Given the description of an element on the screen output the (x, y) to click on. 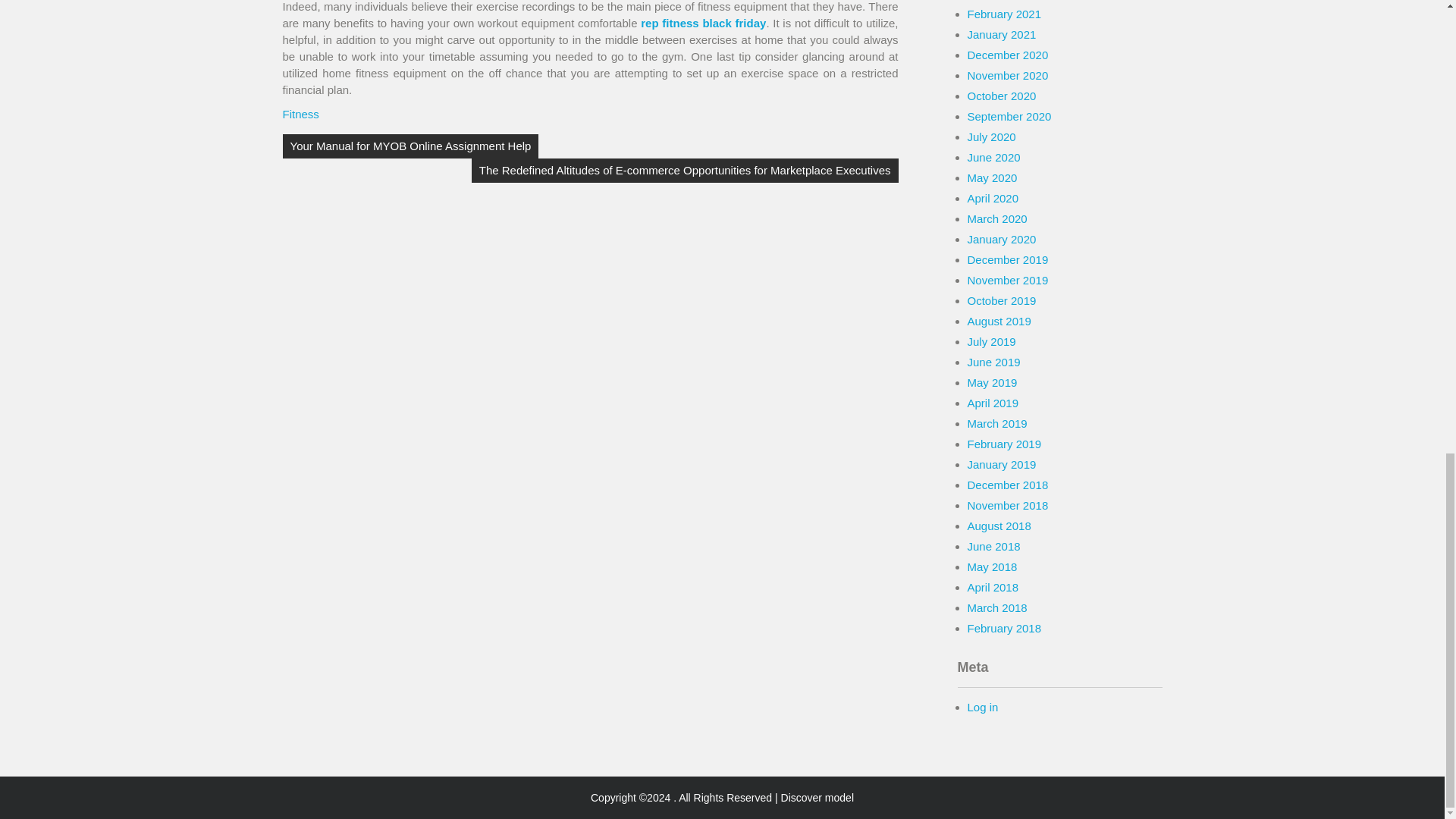
rep fitness black friday (702, 22)
Your Manual for MYOB Online Assignment Help (410, 146)
Fitness (300, 113)
